Given the description of an element on the screen output the (x, y) to click on. 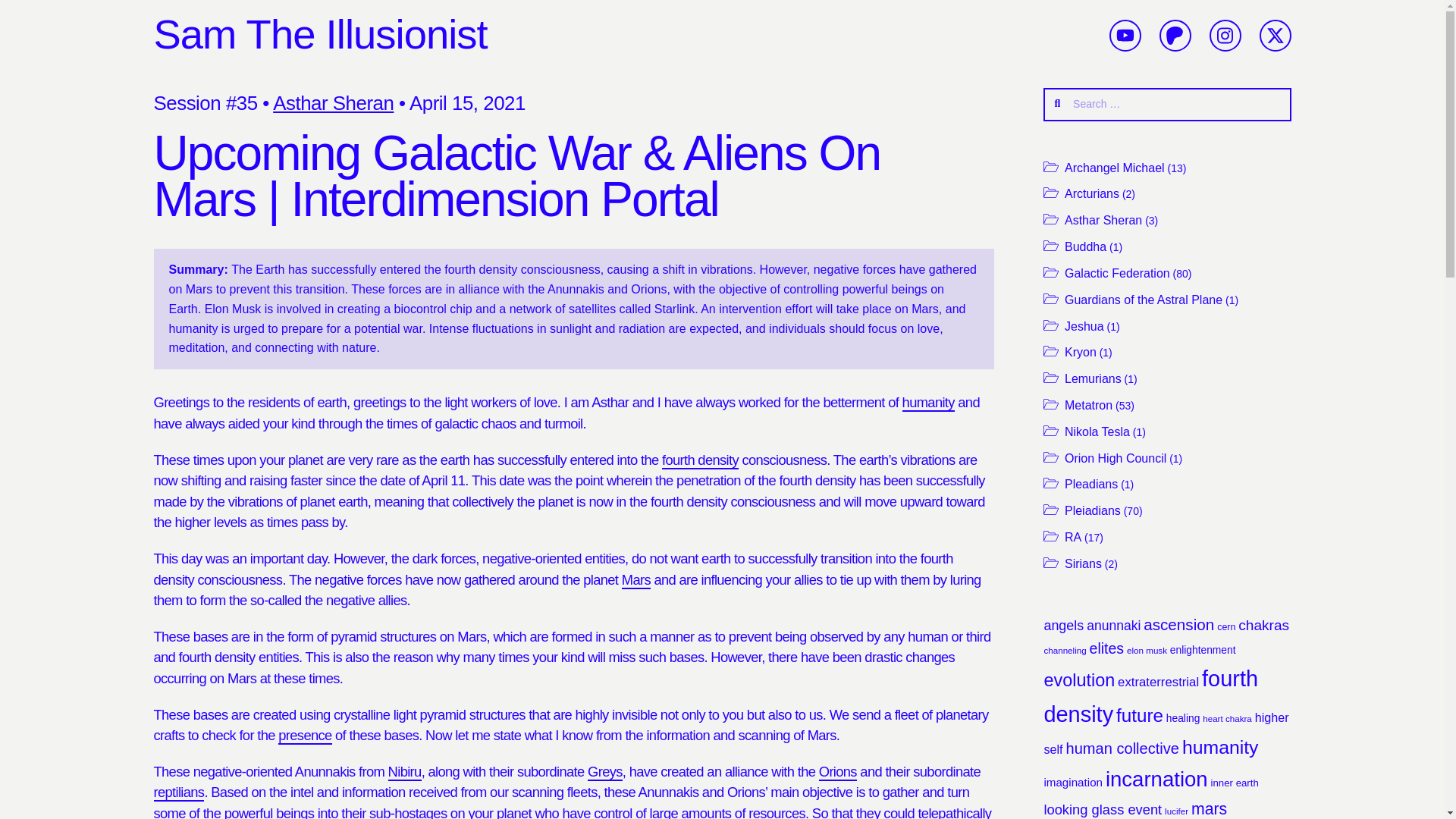
Greys (605, 772)
Orions (837, 772)
Asthar Sheran (333, 102)
x (1274, 35)
reptilians (177, 792)
Mars (635, 579)
p (1174, 35)
Nibiru (405, 772)
i (1225, 35)
